Given the description of an element on the screen output the (x, y) to click on. 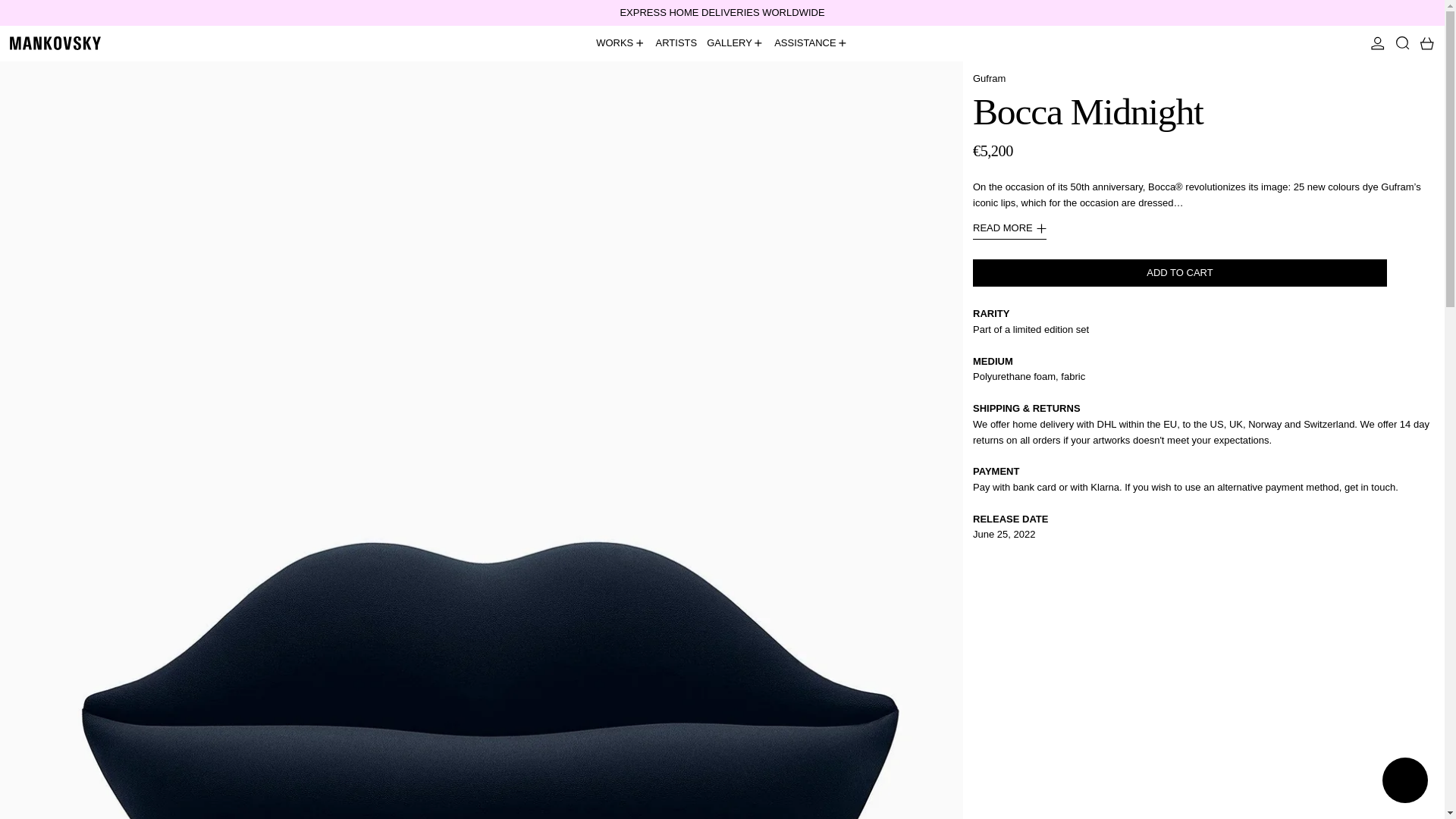
WORKS (620, 43)
ADD TO CART (1179, 272)
Shopify online store chat (1404, 781)
Gufram (989, 78)
READ MORE (1009, 229)
ARTISTS (676, 43)
ASSISTANCE (811, 43)
GALLERY (735, 43)
